Given the description of an element on the screen output the (x, y) to click on. 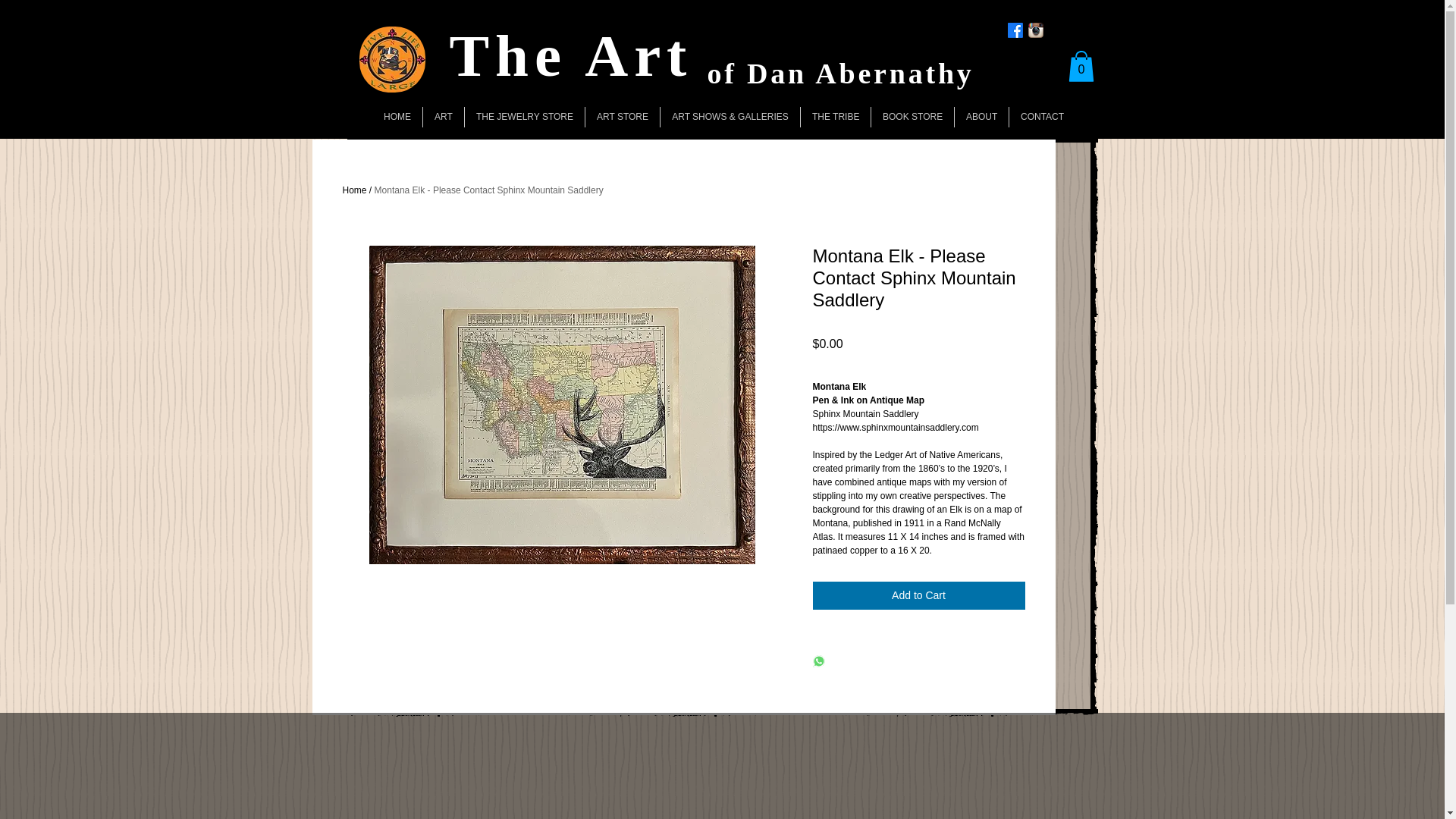
CONTACT (1042, 117)
Montana Elk - Please Contact Sphinx Mountain Saddlery (489, 190)
Add to Cart (918, 595)
ART STORE (622, 117)
THE JEWELRY STORE (524, 117)
ABOUT (982, 117)
BOOK STORE (911, 117)
HOME (397, 117)
THE TRIBE (835, 117)
Home (354, 190)
